Given the description of an element on the screen output the (x, y) to click on. 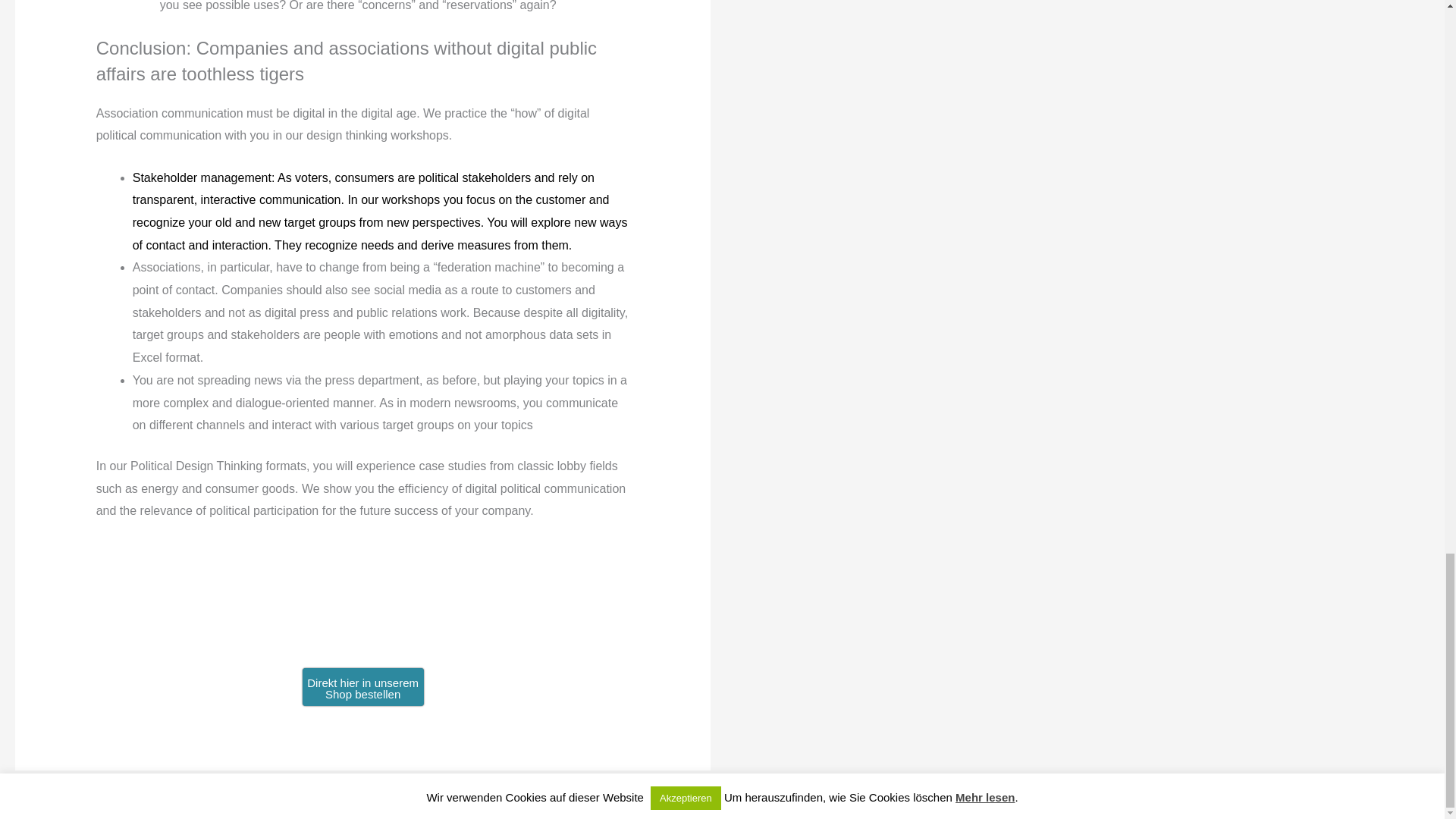
Direkt hier in unserem Shop bestellen (362, 686)
